Given the description of an element on the screen output the (x, y) to click on. 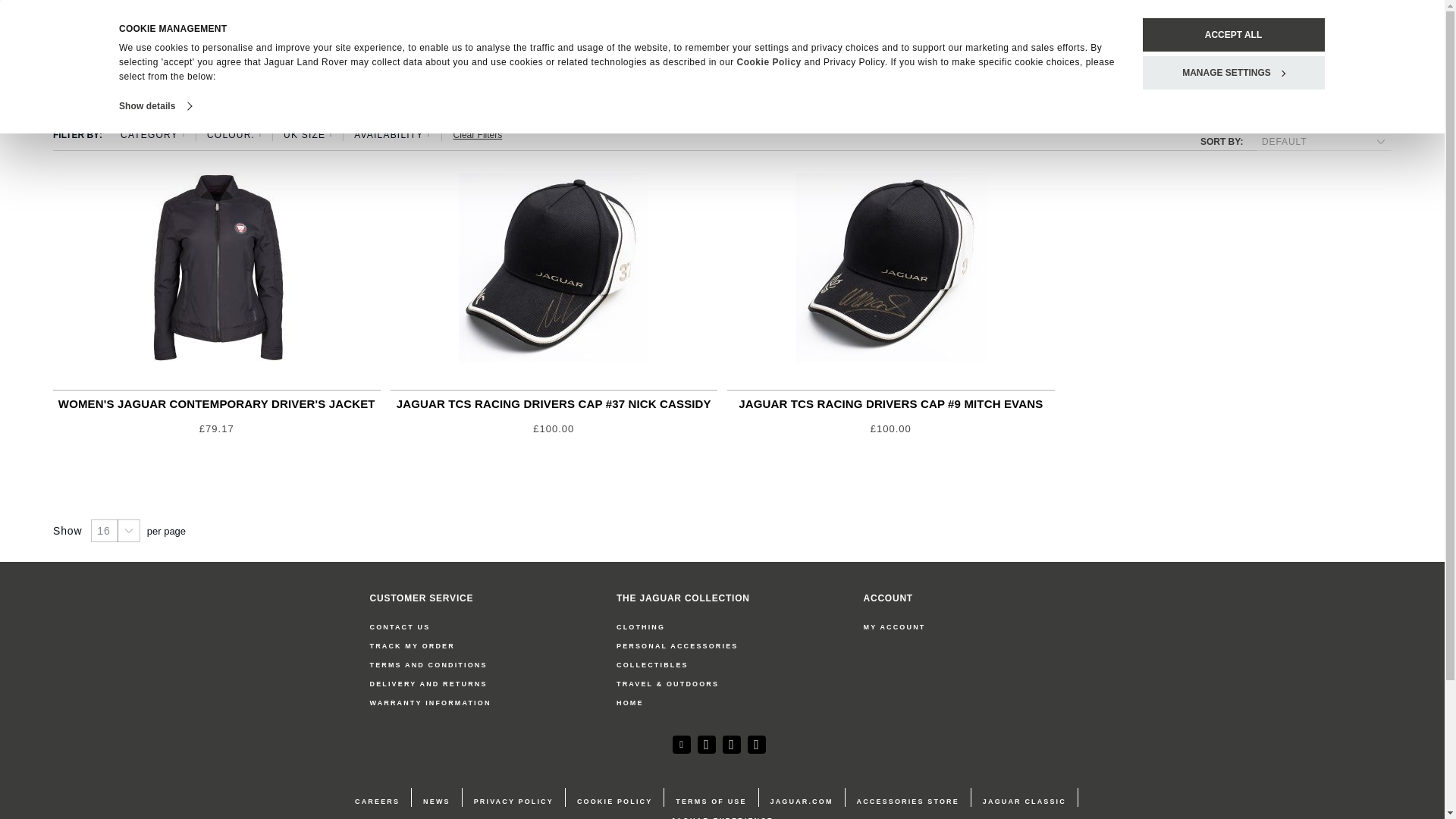
Search (1350, 53)
Show details (154, 106)
Go to Home Page (64, 101)
Cookie Policy (769, 61)
